Given the description of an element on the screen output the (x, y) to click on. 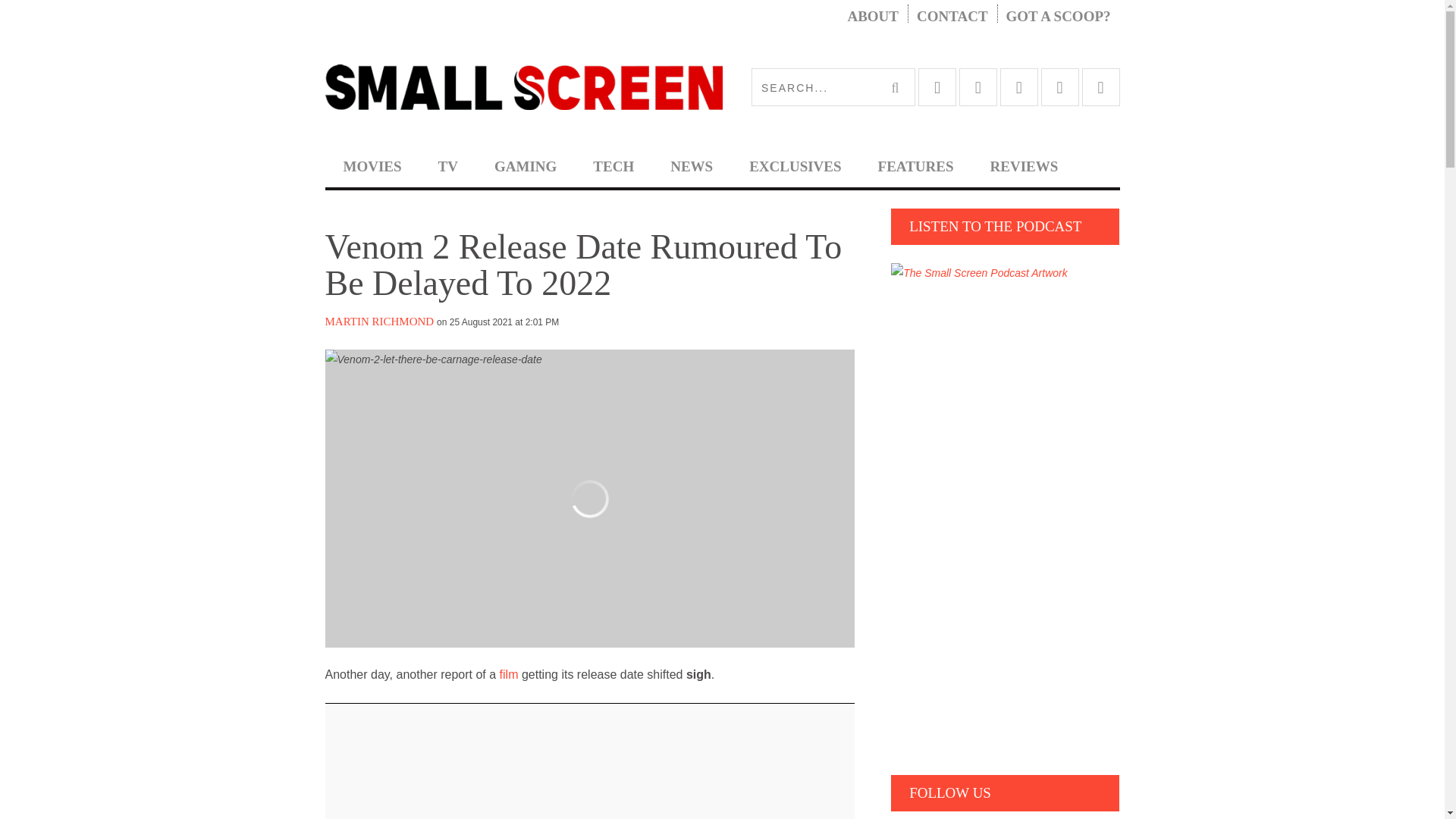
Listen To The Podcast (979, 272)
CONTACT (952, 16)
Posts by Martin Richmond (378, 321)
GOT A SCOOP? (1058, 16)
ABOUT (872, 16)
Small Screen (523, 86)
